Given the description of an element on the screen output the (x, y) to click on. 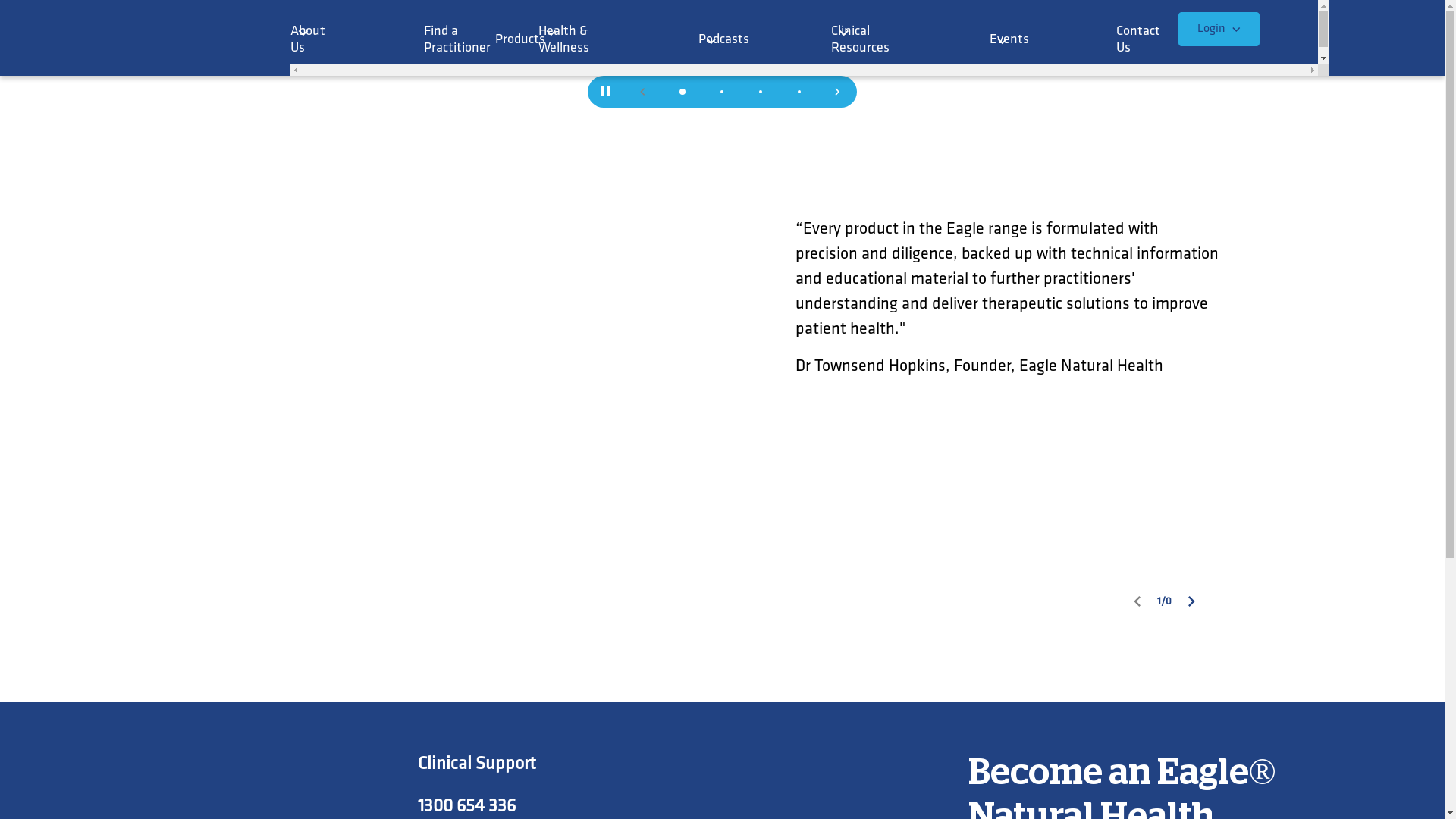
Contact Us Element type: text (1131, 45)
Find a Practitioner Element type: text (449, 45)
Products Element type: text (507, 45)
Login Element type: text (1218, 29)
